Given the description of an element on the screen output the (x, y) to click on. 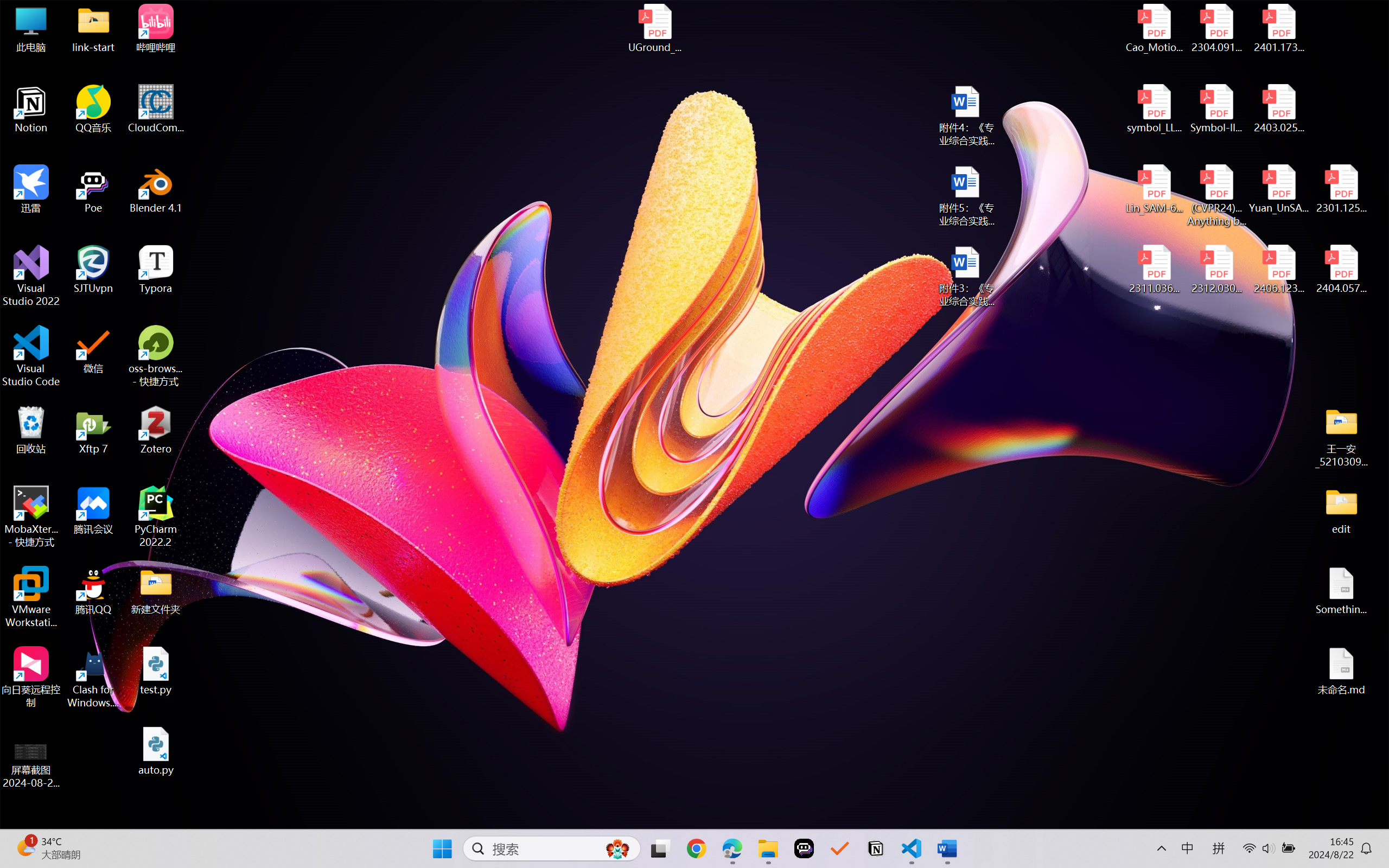
SJTUvpn (93, 269)
symbol_LLM.pdf (1154, 109)
PyCharm 2022.2 (156, 516)
Visual Studio Code (31, 355)
2403.02502v1.pdf (1278, 109)
